Given the description of an element on the screen output the (x, y) to click on. 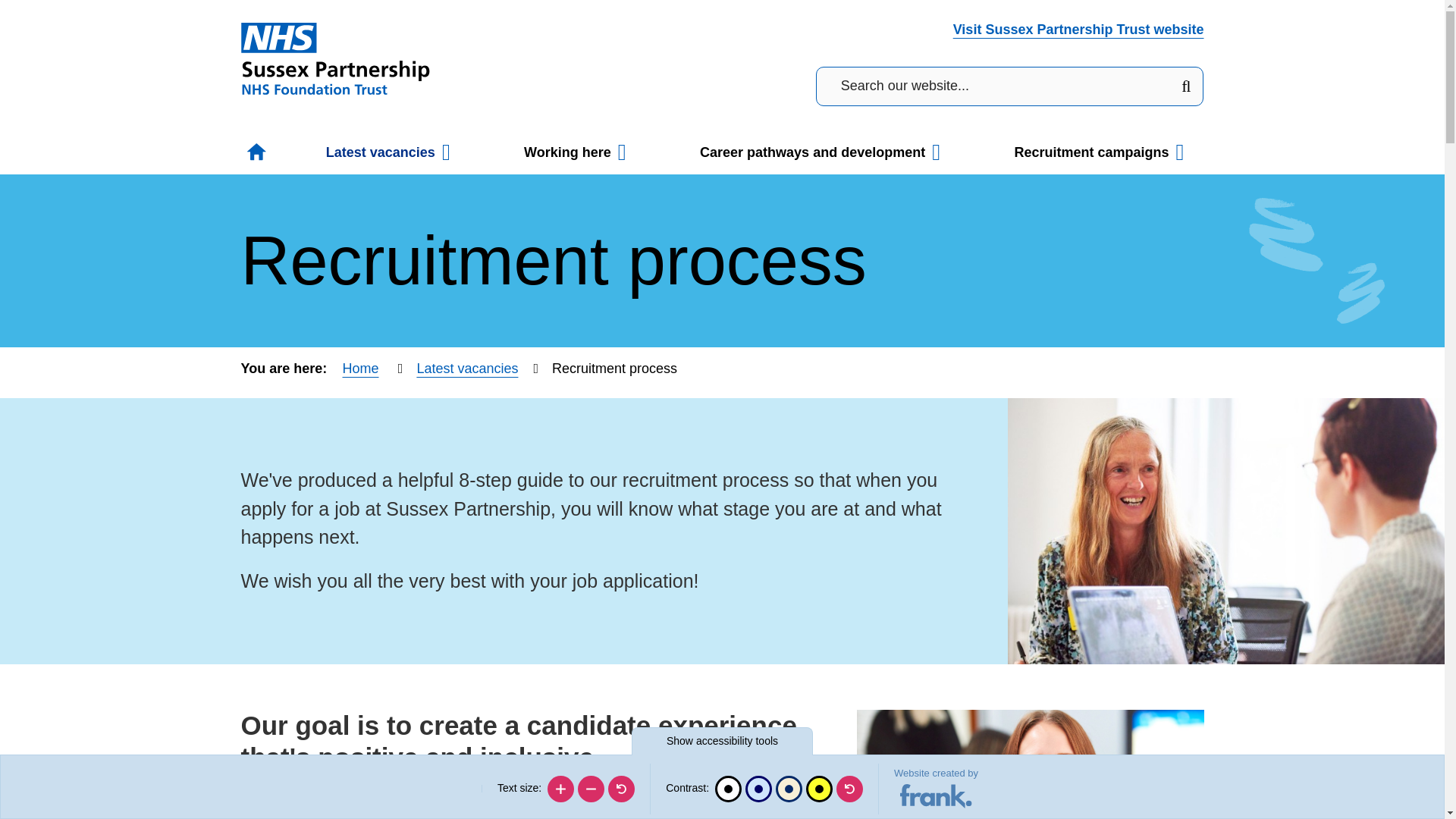
Working here (575, 152)
Latest vacancies (389, 152)
Visit Sussex Partnership Trust website (1078, 29)
Working here (575, 152)
Latest vacancies (389, 152)
Return to home page (335, 57)
